Given the description of an element on the screen output the (x, y) to click on. 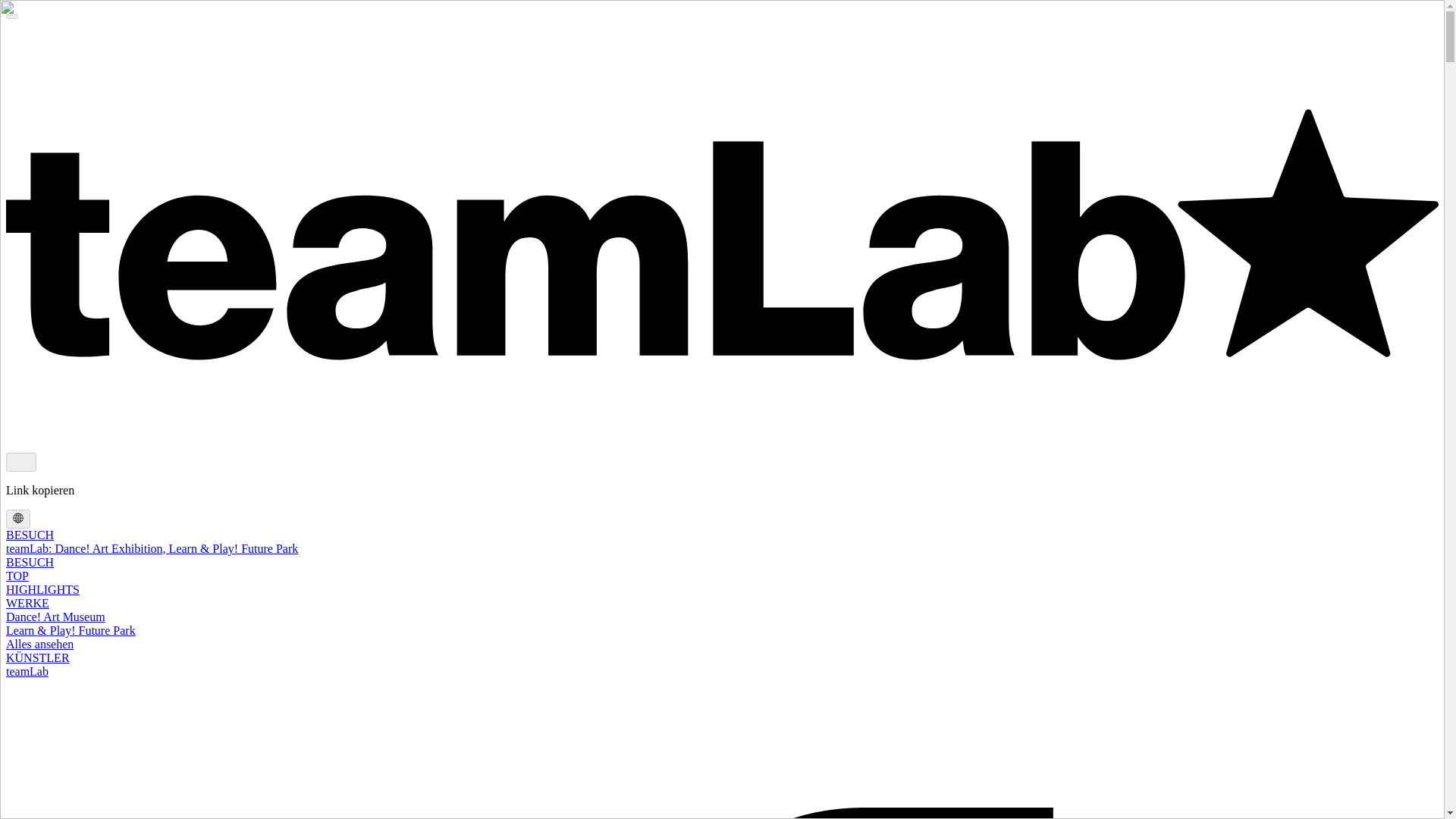
teamLab (26, 671)
Alles ansehen (39, 644)
HIGHLIGHTS (42, 589)
BESUCH (29, 534)
Dance! Art Museum (54, 616)
TOP (17, 575)
WERKE (27, 603)
BESUCH (29, 562)
